Given the description of an element on the screen output the (x, y) to click on. 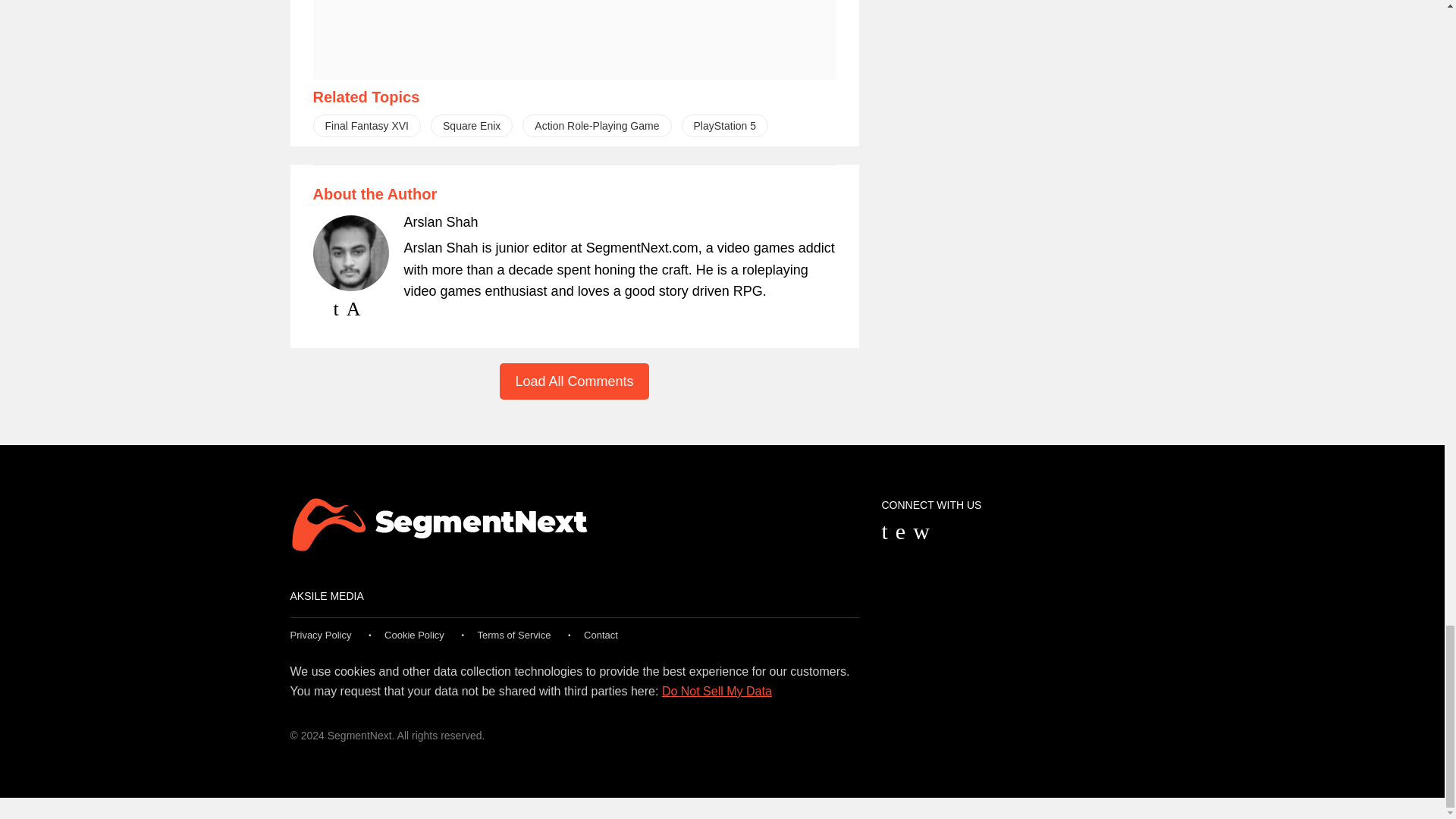
Arslan Shah (440, 222)
Final Fantasy XVI (366, 125)
Square Enix (471, 125)
PlayStation 5 (724, 125)
Action Role-Playing Game (596, 125)
Arslan Shah (440, 222)
